Given the description of an element on the screen output the (x, y) to click on. 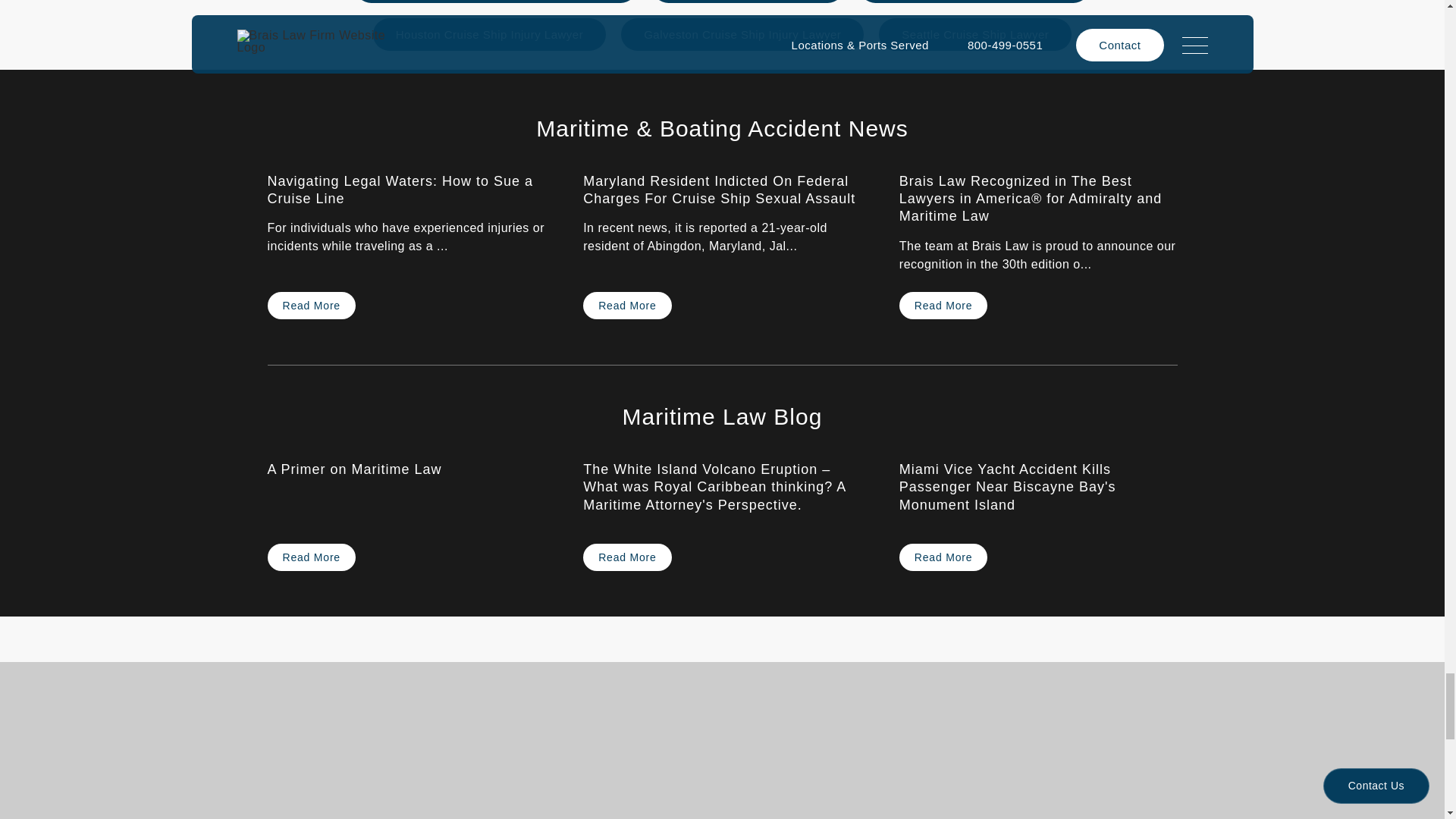
Cruise Ship Injury Lawyer (488, 34)
Cruise Ship Lawyer (974, 1)
Cruise Ship Lawyer (748, 1)
Cruise Ship Accident Lawyer (495, 1)
Cruise Ship Lawyer (975, 34)
Cruise Ship Injury Lawyer (742, 34)
